Given the description of an element on the screen output the (x, y) to click on. 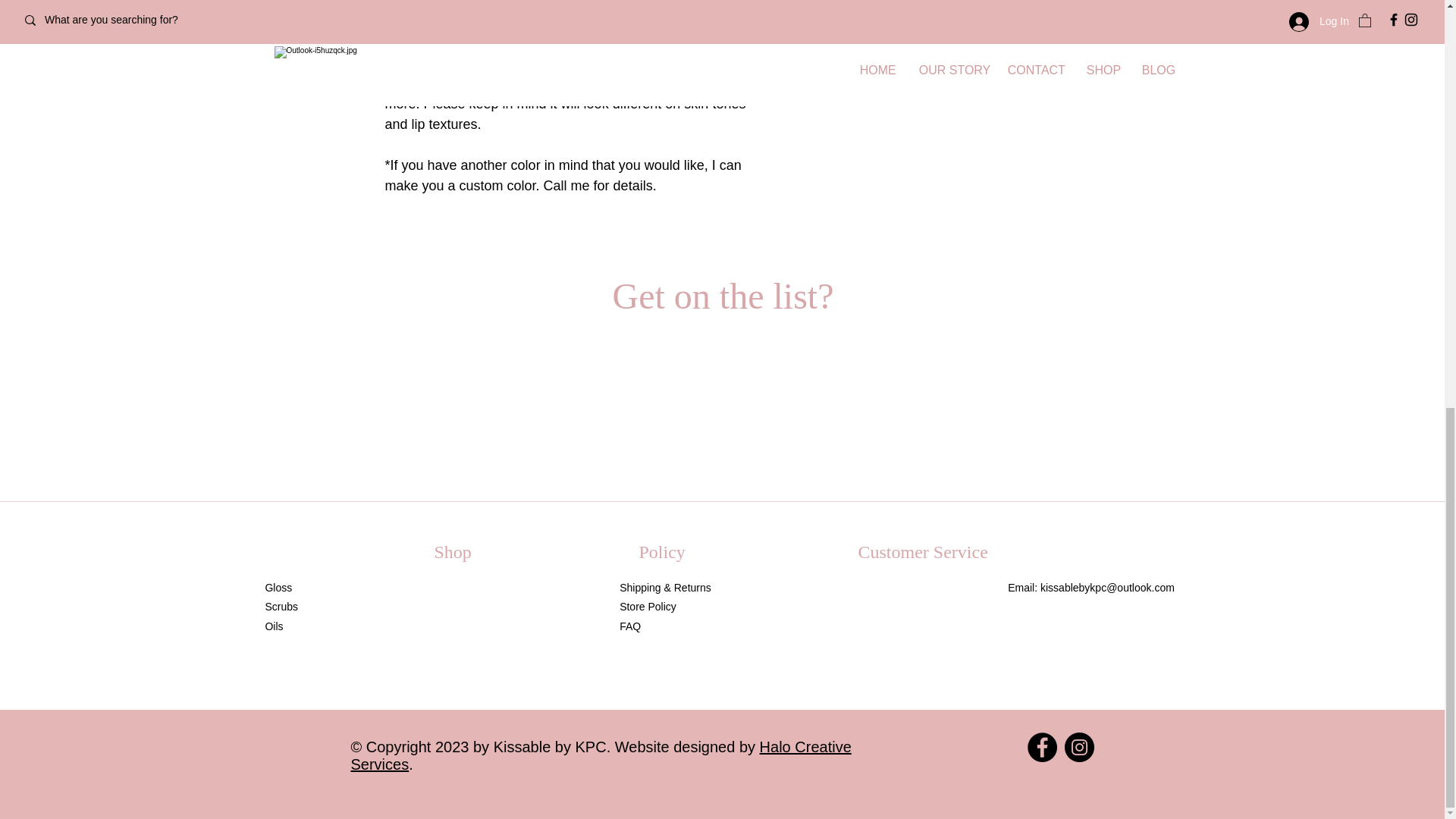
Halo Creative Services (600, 755)
Gloss (278, 587)
Store Policy  (649, 606)
Scrubs (281, 606)
Oils (273, 625)
FAQ (630, 625)
